Given the description of an element on the screen output the (x, y) to click on. 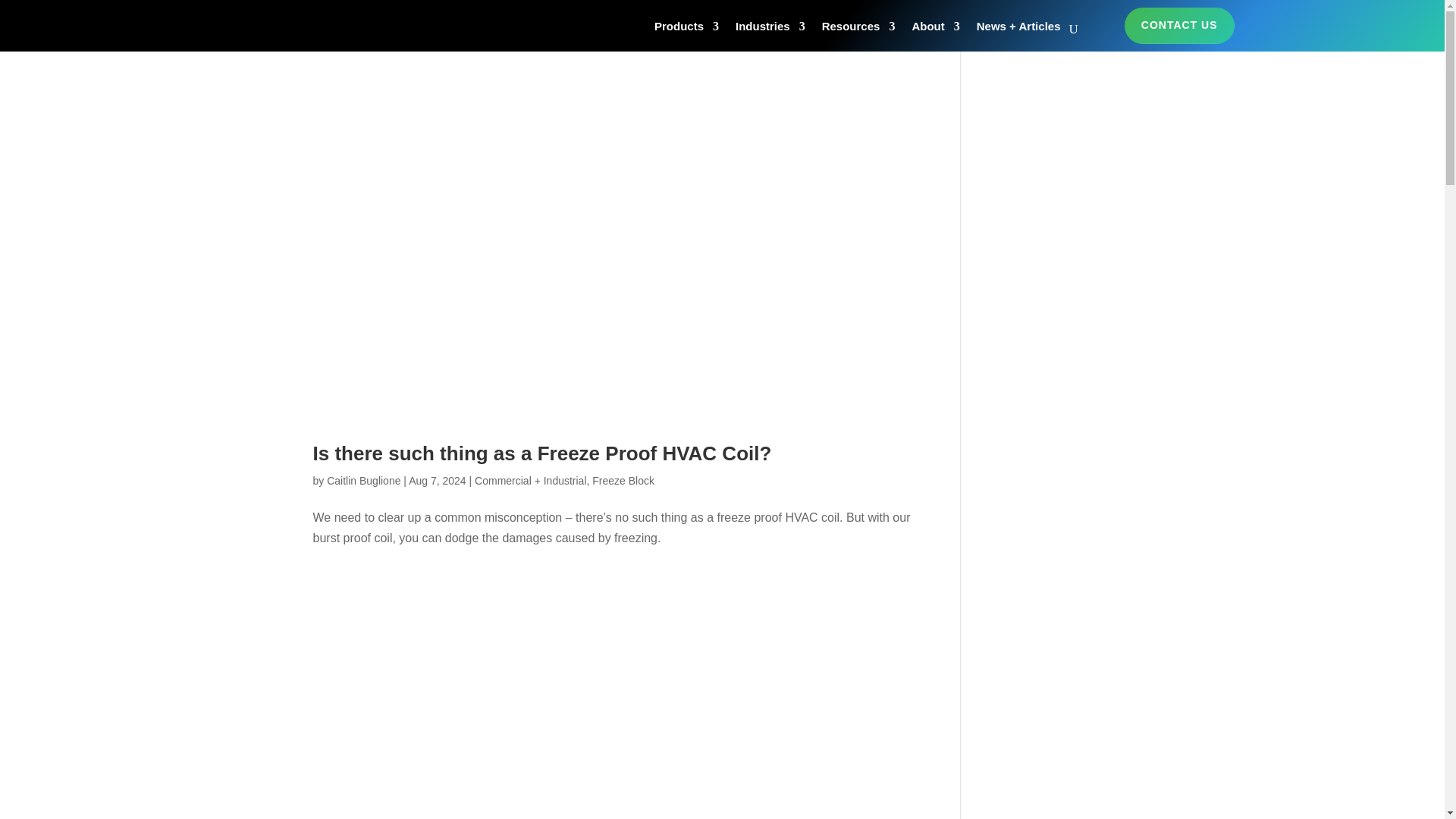
CONTACT US (1179, 25)
About (935, 29)
Resources (858, 29)
Products (686, 29)
Posts by Caitlin Buglione (363, 480)
Industries (770, 29)
